Given the description of an element on the screen output the (x, y) to click on. 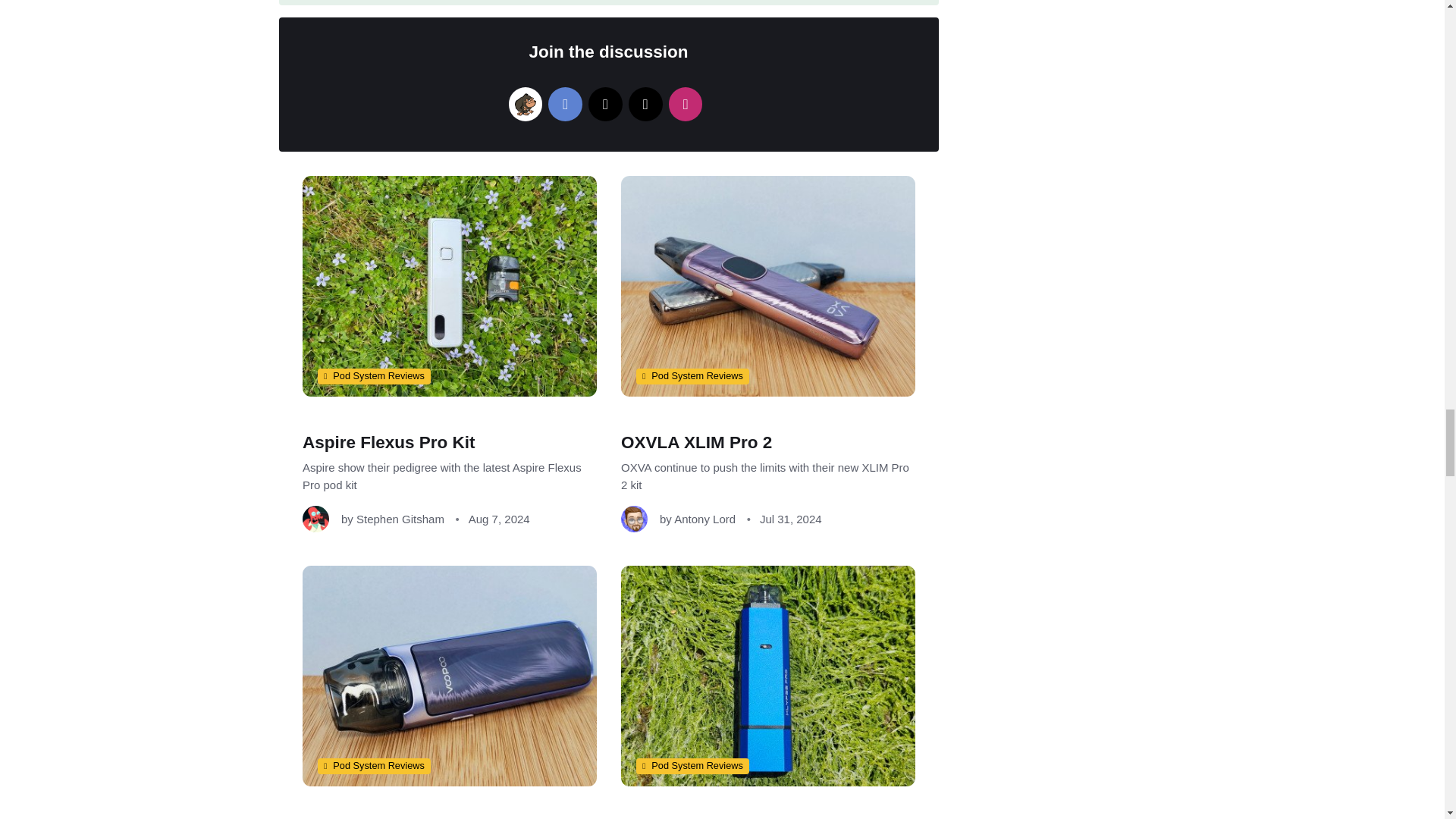
Pod System Reviews (373, 375)
OXVLA XLIM Pro 2 (695, 442)
Aspire Flexus Pro Kit (387, 442)
Stephen Gitsham (400, 517)
Pod System Reviews (691, 375)
Antony Lord (704, 517)
